Given the description of an element on the screen output the (x, y) to click on. 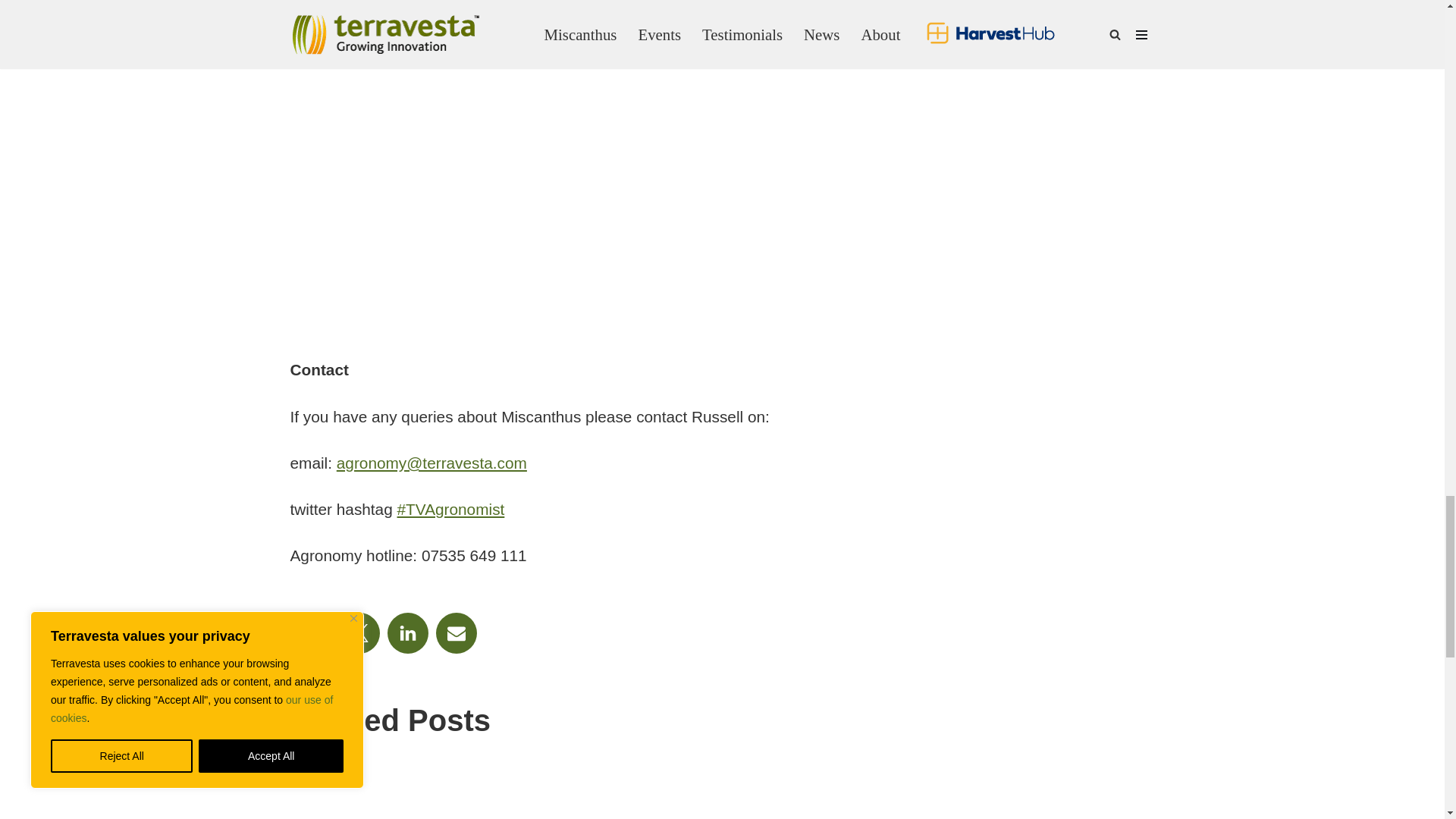
LinkedIn (407, 632)
Facebook (309, 632)
Email (455, 632)
Twitter (357, 632)
